Given the description of an element on the screen output the (x, y) to click on. 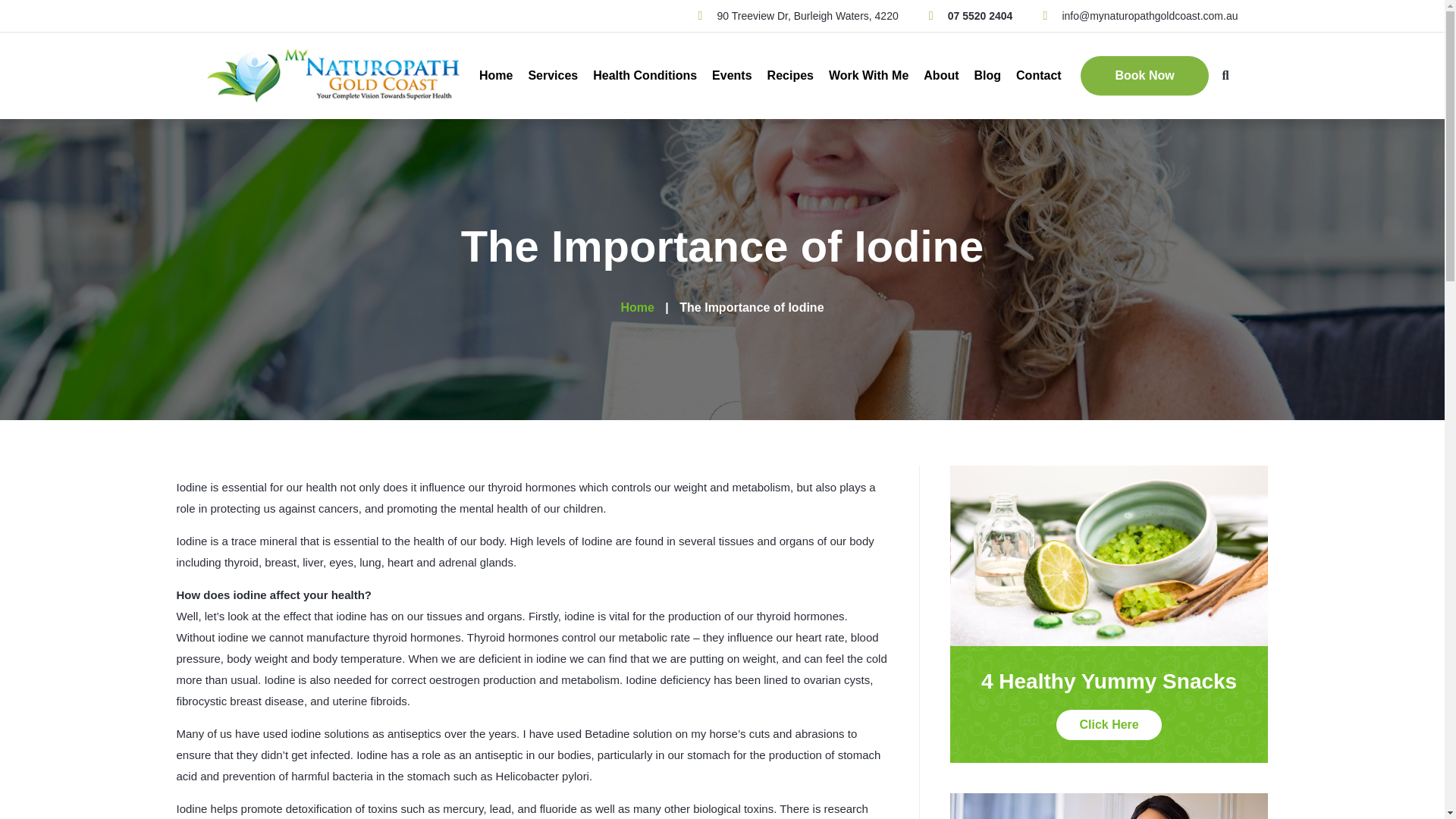
Work With Me (868, 75)
Home (495, 75)
Blog (987, 75)
Contact (1038, 75)
Events (731, 75)
Recipes (790, 75)
07 5520 2404 (970, 15)
About (940, 75)
Health Conditions (644, 75)
Services (552, 75)
